Given the description of an element on the screen output the (x, y) to click on. 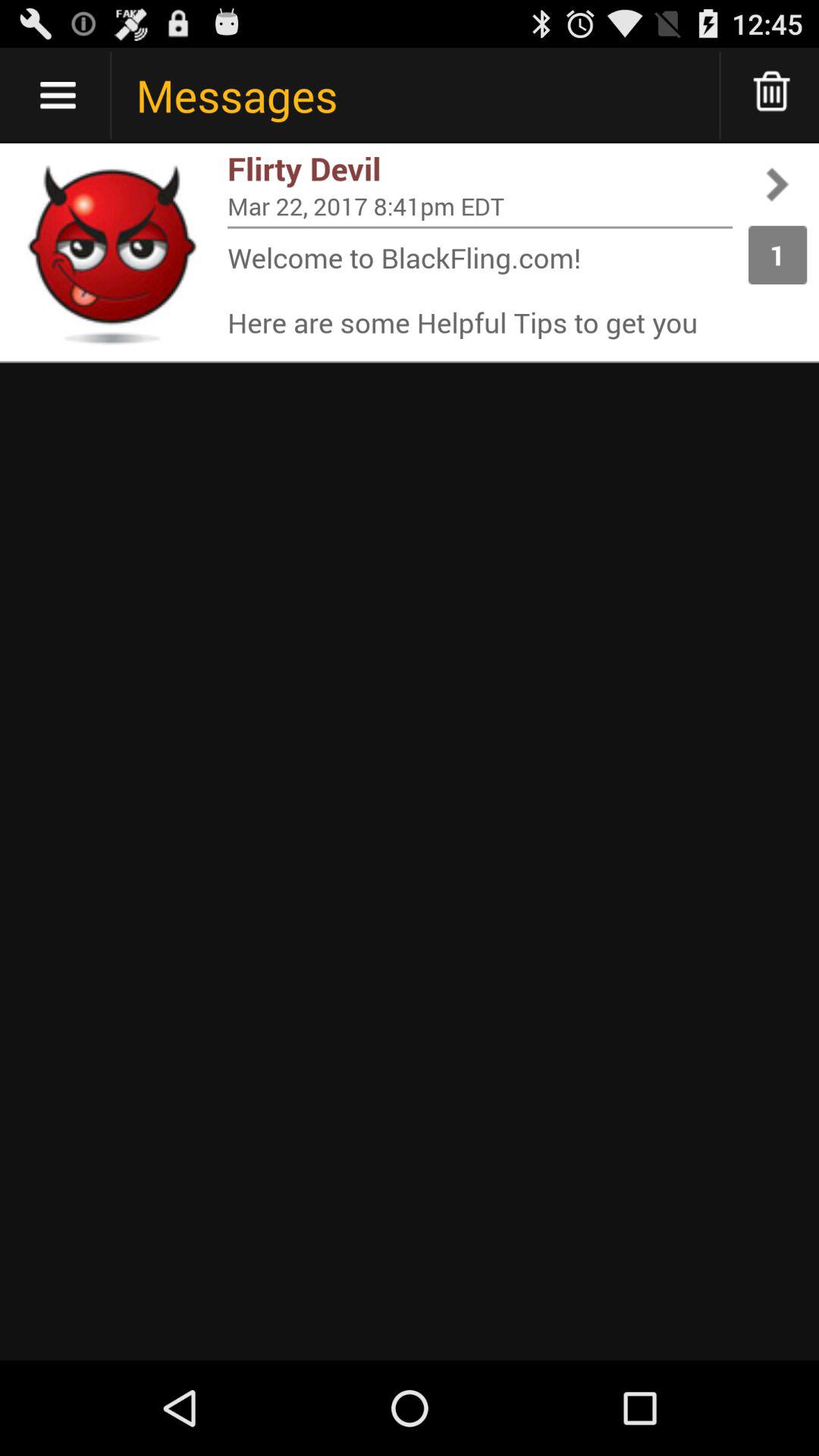
turn off the item next to the 1 icon (479, 289)
